Given the description of an element on the screen output the (x, y) to click on. 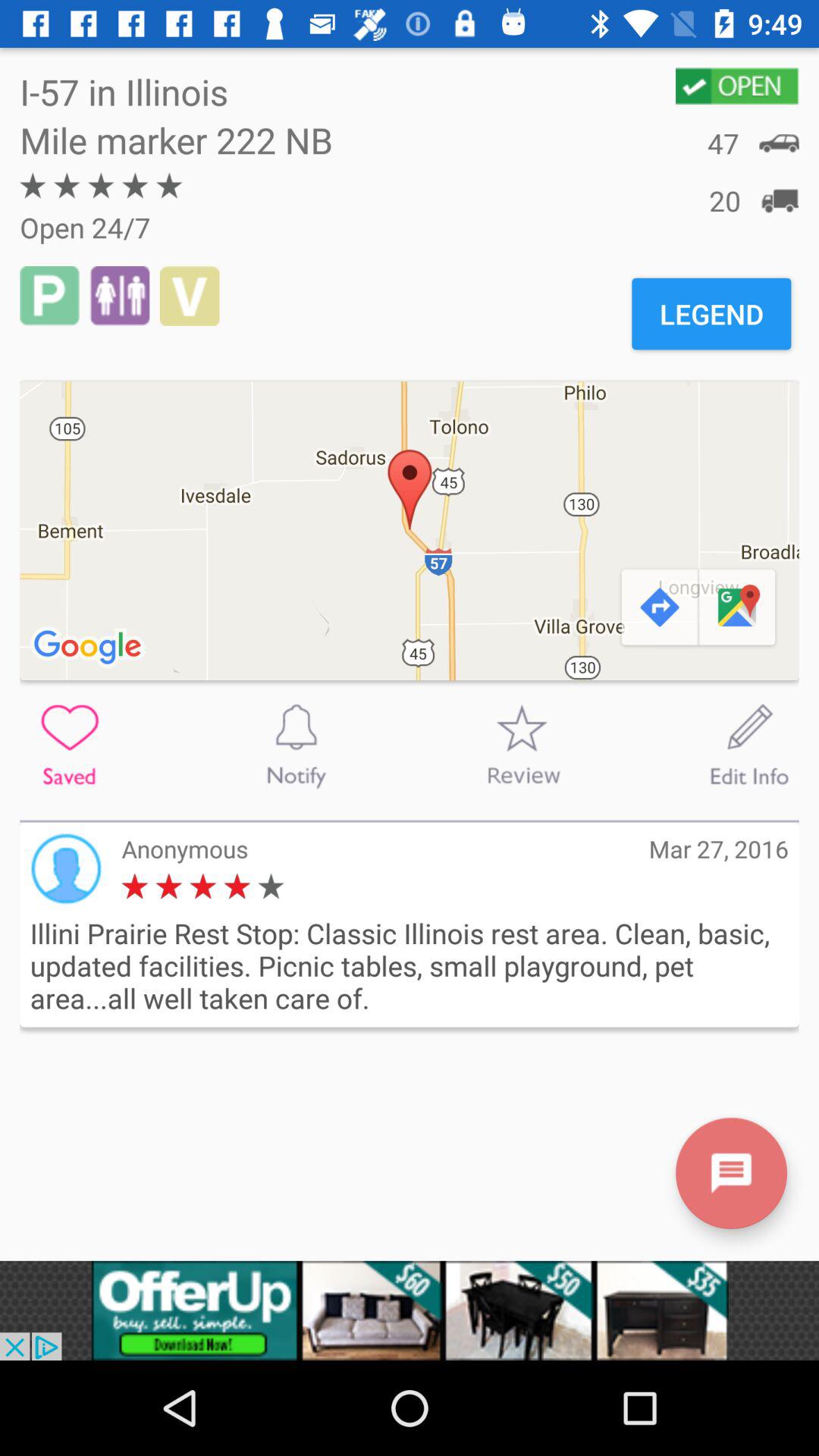
menu button (731, 1173)
